Given the description of an element on the screen output the (x, y) to click on. 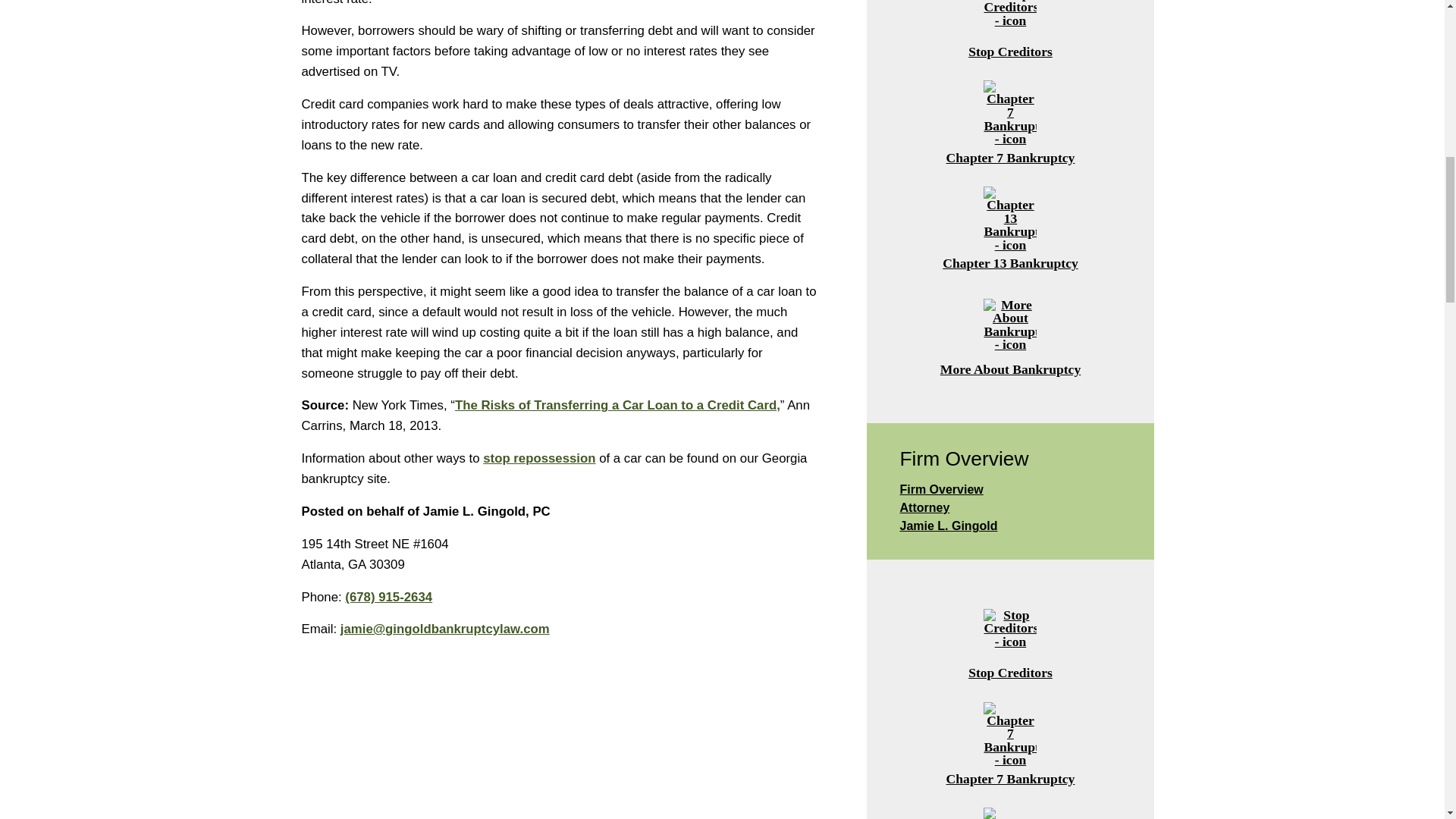
Jamie L. Gingold (1010, 525)
Stop Creditors (1010, 634)
Stop Creditors (1010, 32)
The Risks of Transferring a Car Loan to a Credit Card, (617, 405)
stop repossession (539, 458)
Firm Overview (1010, 489)
More About Bankruptcy (1010, 331)
Attorney (1010, 507)
Chapter 7 Bankruptcy (1010, 119)
Chapter 13 Bankruptcy (1010, 225)
